Given the description of an element on the screen output the (x, y) to click on. 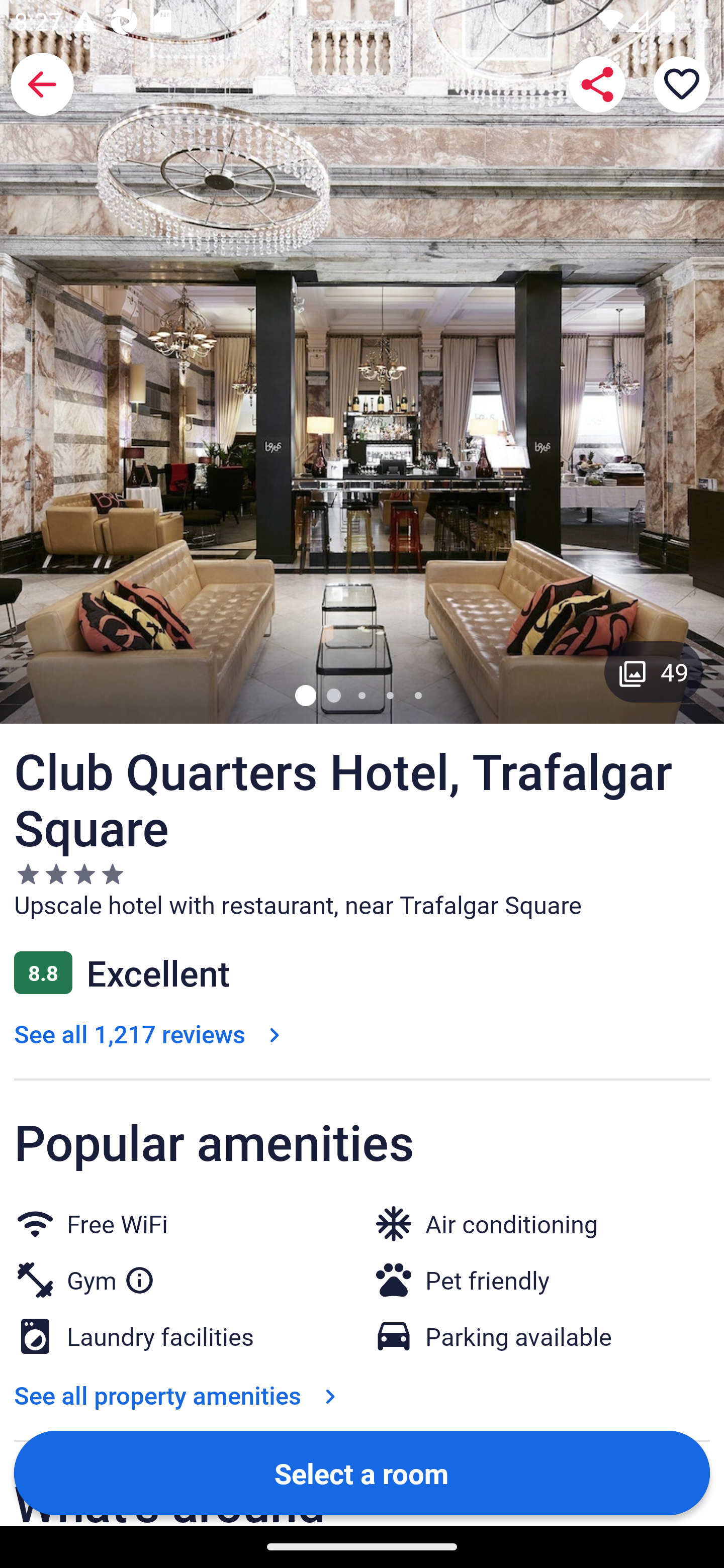
Back (42, 84)
Save property to a trip (681, 84)
Share Club Quarters Hotel, Trafalgar Square (597, 84)
Gallery button with 49 images (653, 671)
See all 1,217 reviews See all 1,217 reviews Link (150, 1032)
Gym (110, 1276)
See all property amenities (178, 1395)
Select a room Button Select a room (361, 1472)
